Given the description of an element on the screen output the (x, y) to click on. 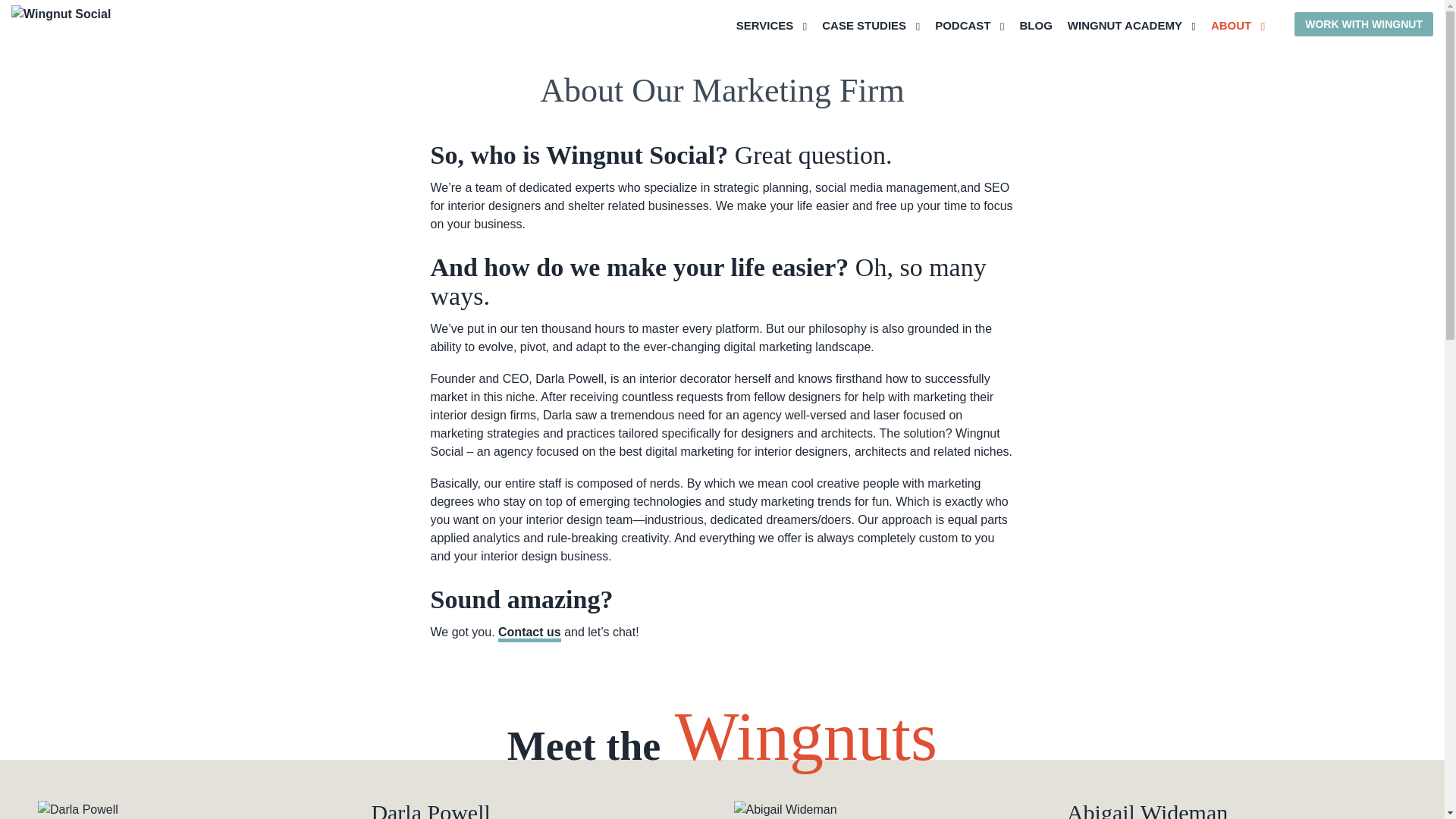
WORK WITH WINGNUT (1363, 24)
WORK WITH WINGNUT (1363, 24)
SERVICES (1008, 25)
BLOG (772, 25)
ABOUT (1035, 25)
Contact us (1238, 25)
Contact us (528, 633)
WINGNUT ACADEMY (528, 633)
PODCAST (1131, 25)
